Given the description of an element on the screen output the (x, y) to click on. 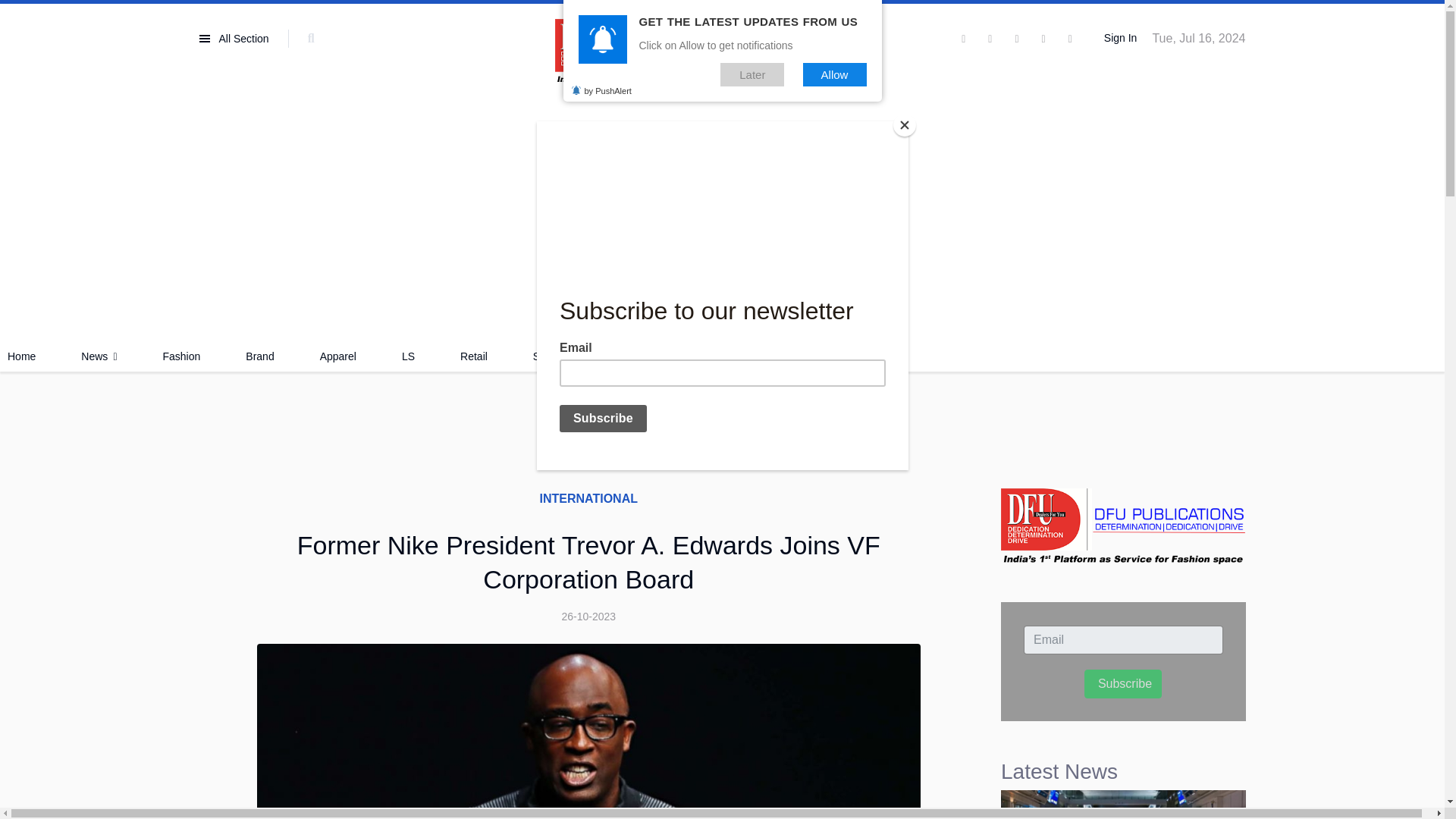
Sign In (1118, 38)
Category: International (588, 498)
Published: 26 October 2023 (587, 616)
